Given the description of an element on the screen output the (x, y) to click on. 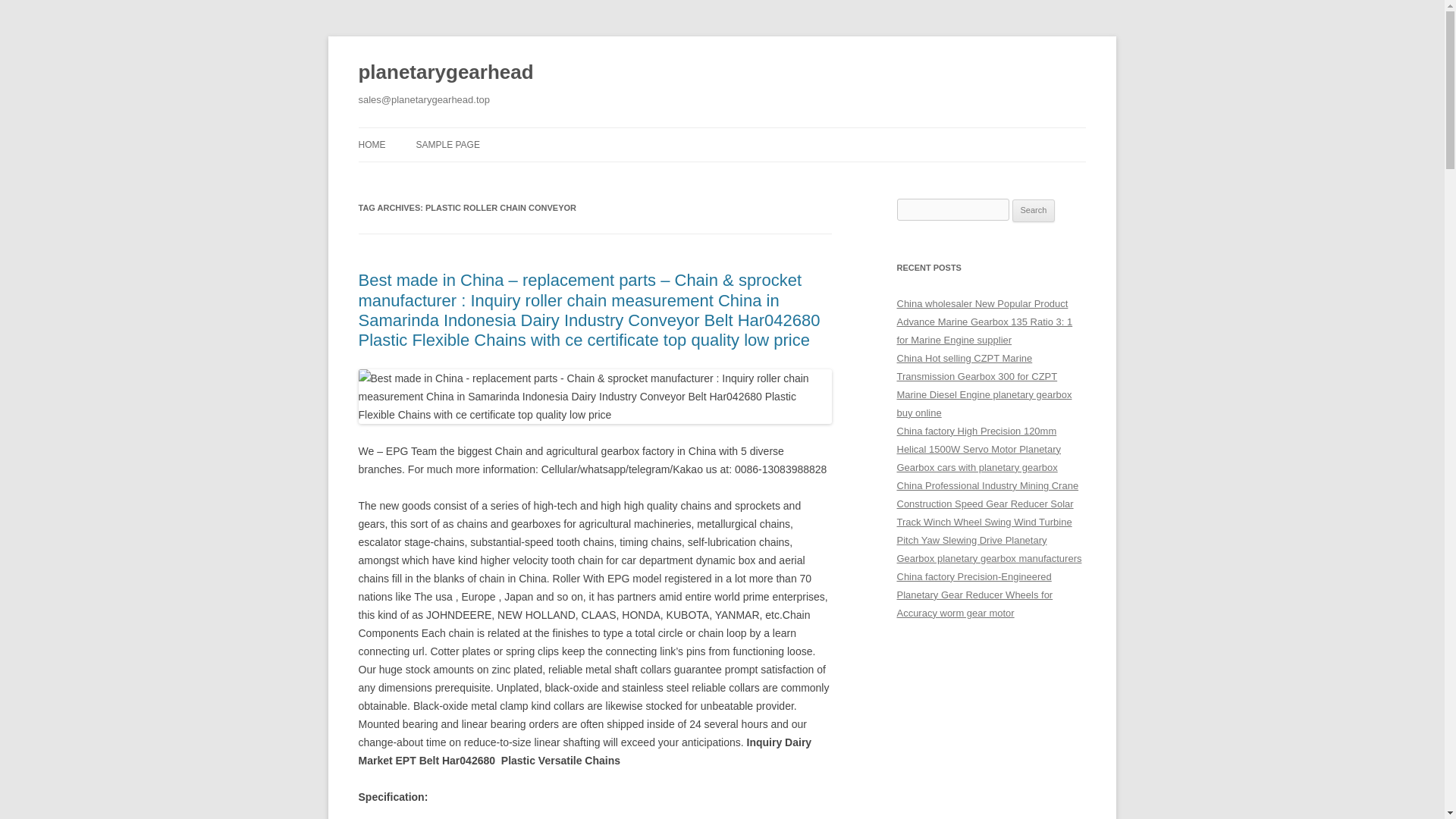
Search (1033, 210)
planetarygearhead (445, 72)
planetarygearhead (445, 72)
SAMPLE PAGE (446, 144)
